Given the description of an element on the screen output the (x, y) to click on. 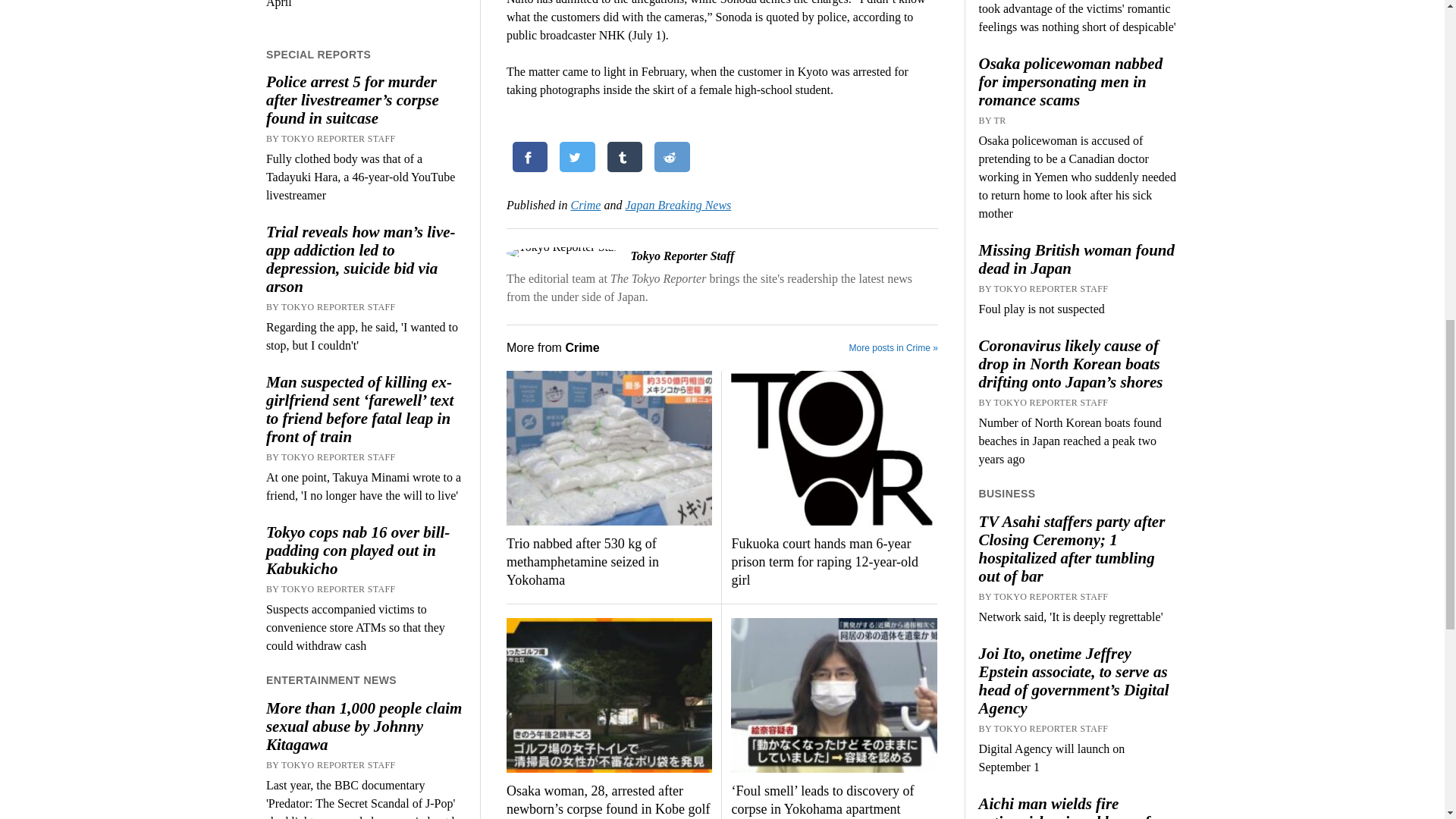
View all posts in Japan Breaking News (677, 205)
View all posts in Crime (584, 205)
